Given the description of an element on the screen output the (x, y) to click on. 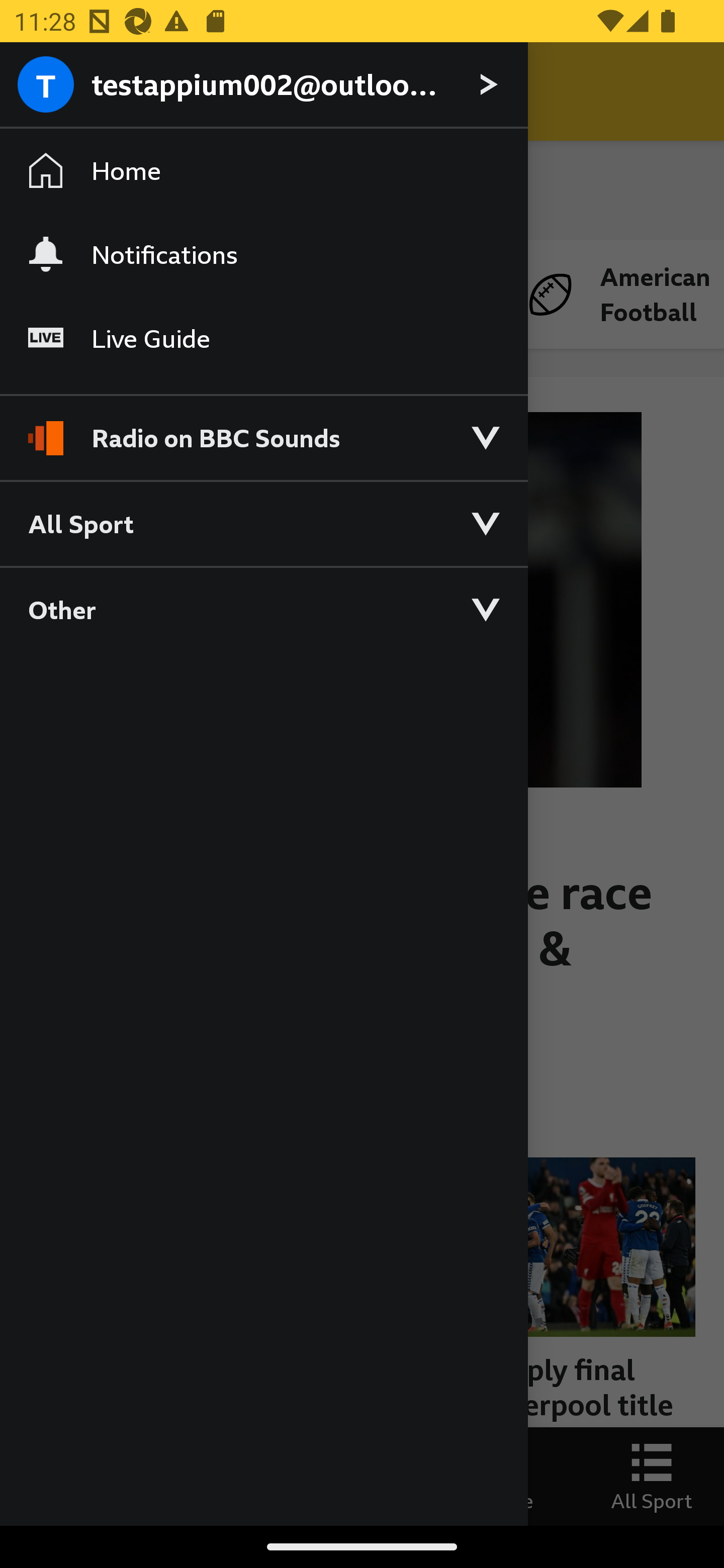
testappium002@outlook.com (263, 85)
Home (263, 170)
Notifications (263, 253)
Live Guide (263, 338)
Radio on BBC Sounds (263, 429)
All Sport (263, 522)
Other (263, 609)
